Given the description of an element on the screen output the (x, y) to click on. 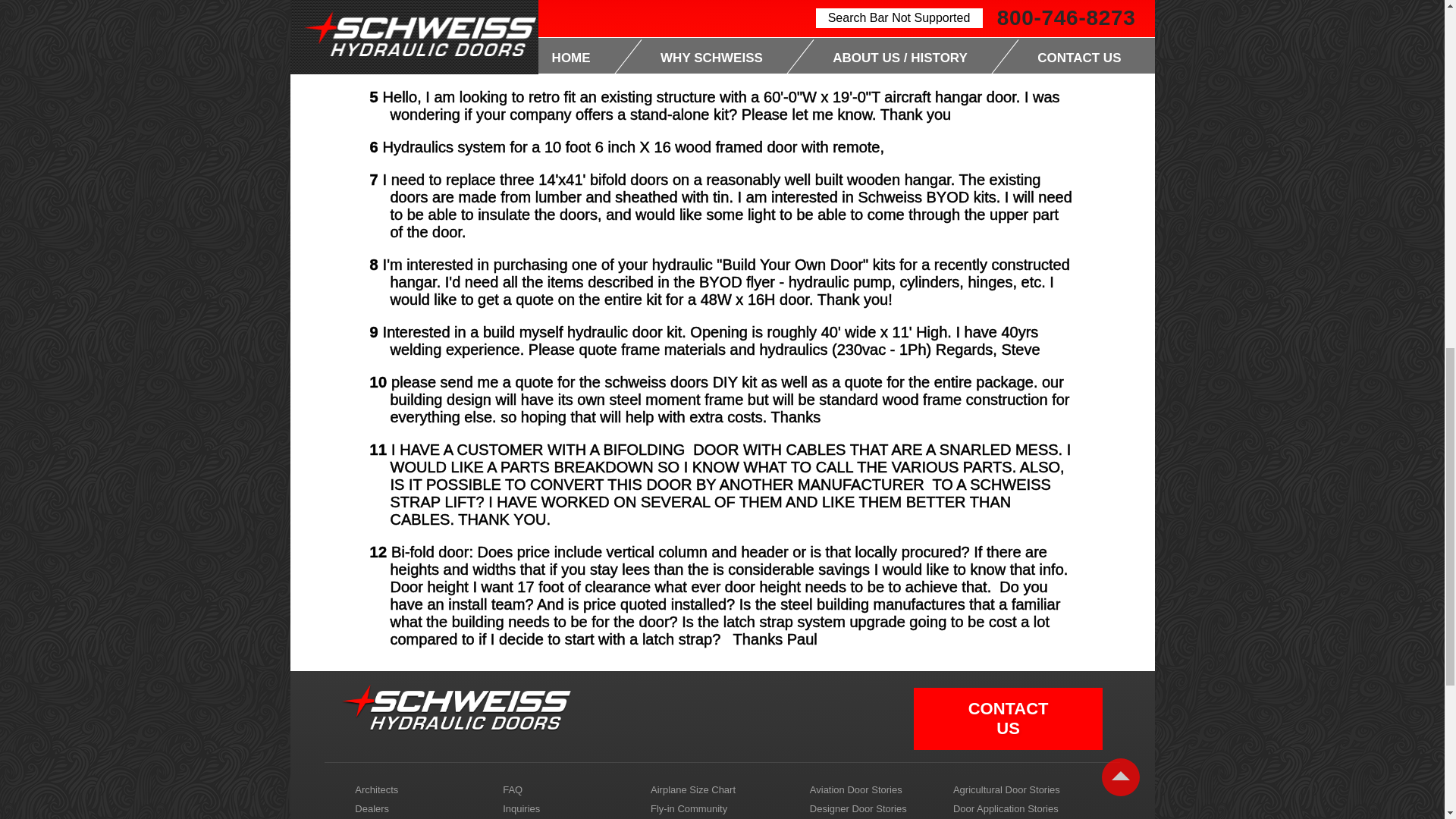
Airplane Size Chart (718, 789)
Inquiries (569, 808)
Fly-in Community (718, 808)
CONTACT US (1008, 718)
FAQ (569, 789)
Schweiss Hydraulic Doors Logo (456, 707)
Architects (422, 789)
Dealers (422, 808)
